Given the description of an element on the screen output the (x, y) to click on. 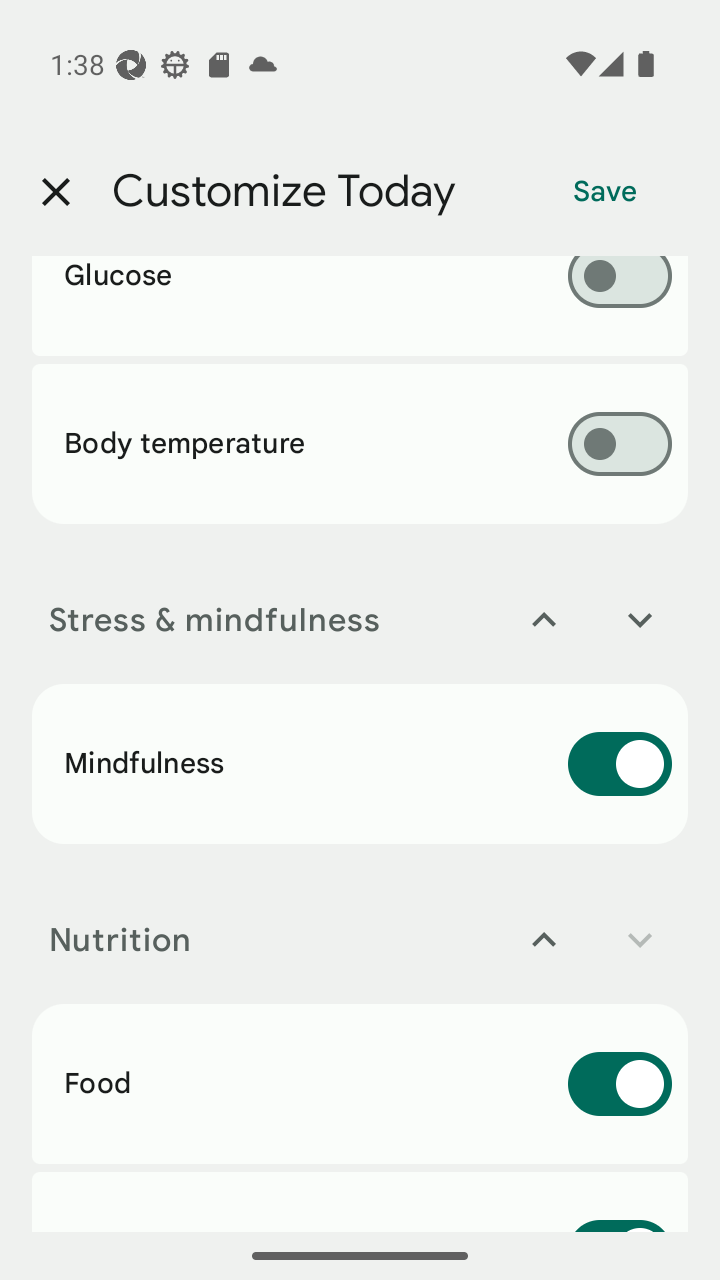
Close (55, 191)
Save (605, 191)
Glucose (359, 305)
Body temperature (359, 443)
Move Stress & mindfulness up (543, 620)
Move Stress & mindfulness down (639, 620)
Mindfulness (359, 763)
Move Nutrition up (543, 940)
Move Nutrition down (639, 940)
Food (359, 1083)
